Given the description of an element on the screen output the (x, y) to click on. 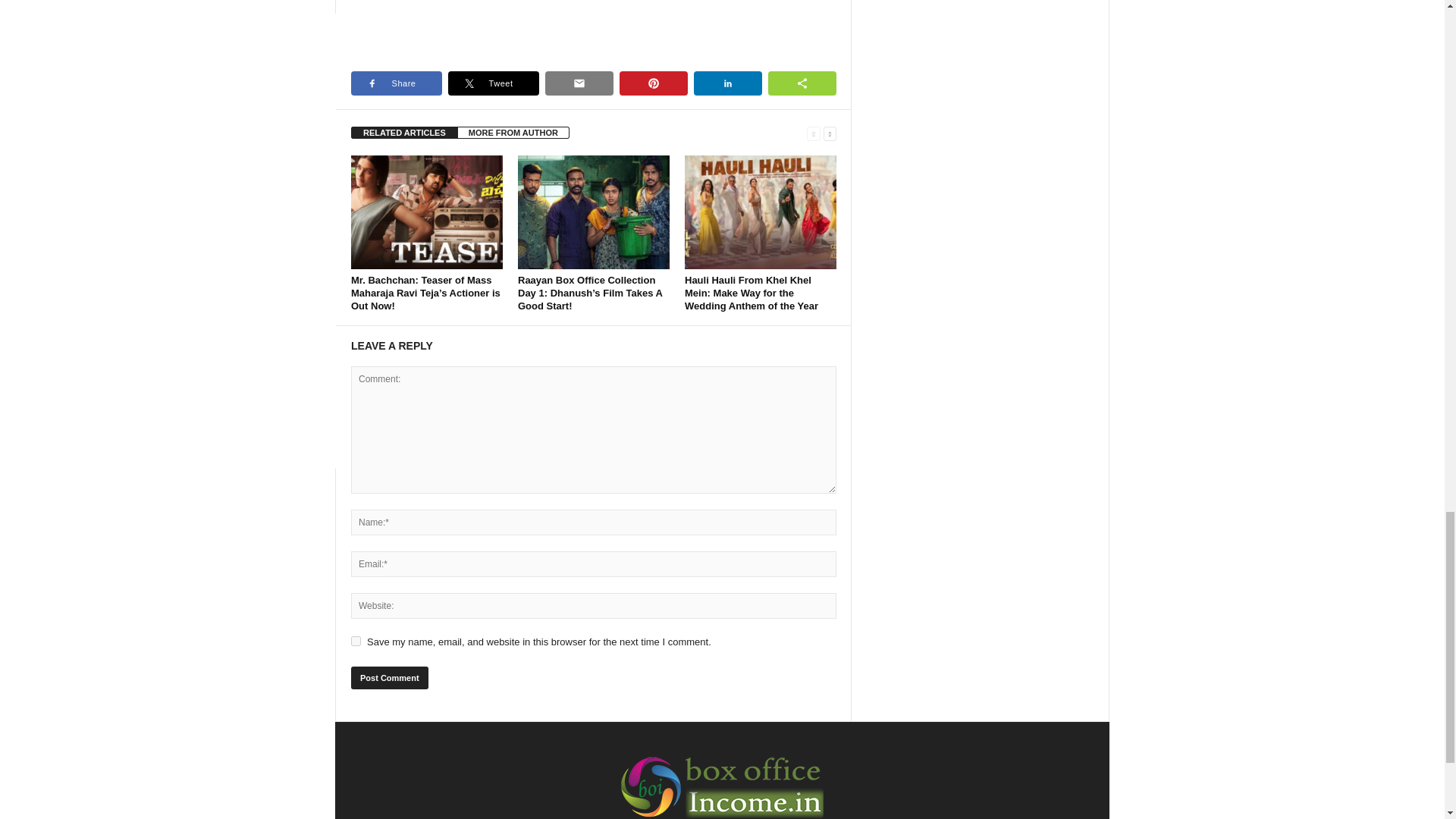
Post Comment (389, 677)
yes (355, 641)
